Given the description of an element on the screen output the (x, y) to click on. 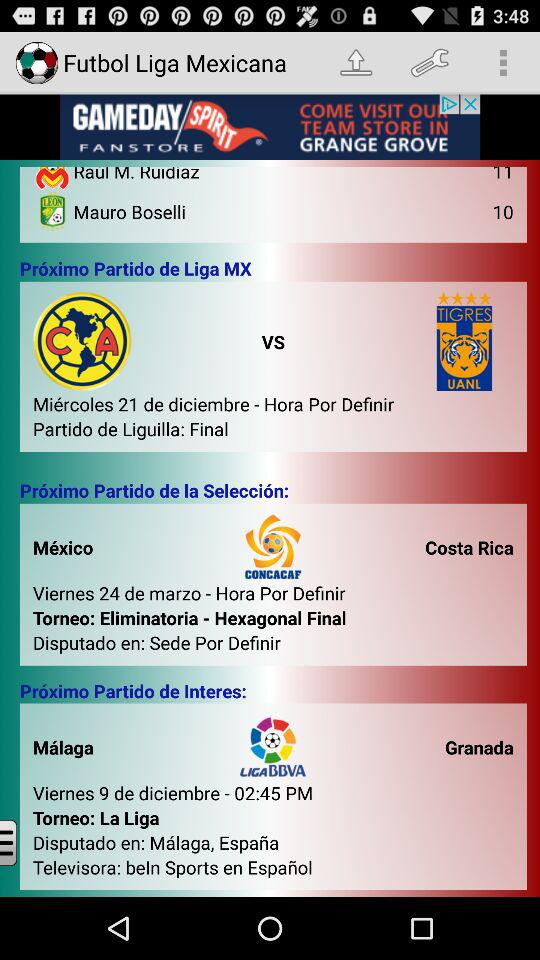
view advertisement (270, 127)
